Given the description of an element on the screen output the (x, y) to click on. 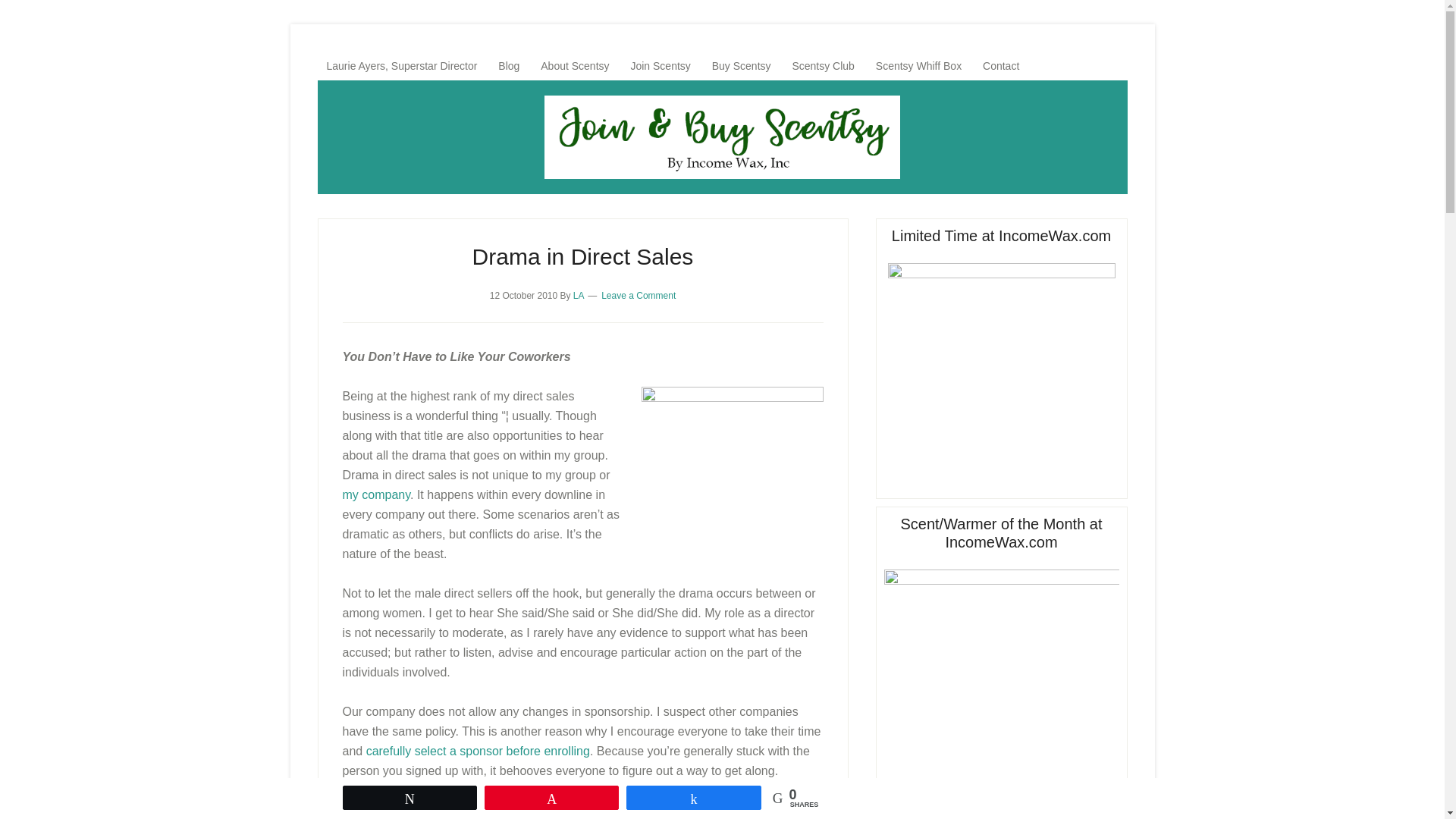
Leave a Comment (638, 295)
Blog (508, 65)
Join Scentsy (659, 65)
carefully select a sponsor before enrolling (477, 750)
Scentsy Club (823, 65)
Buy Scentsy Online (721, 137)
Join Scentsy Today (659, 65)
Buy Scentsy (741, 65)
About Laurie (401, 65)
About Scentsy (574, 65)
Scentsy Whiff Box (918, 65)
Contact (1000, 65)
drama in direct sales (733, 454)
Laurie Ayers, Superstar Director (401, 65)
